Given the description of an element on the screen output the (x, y) to click on. 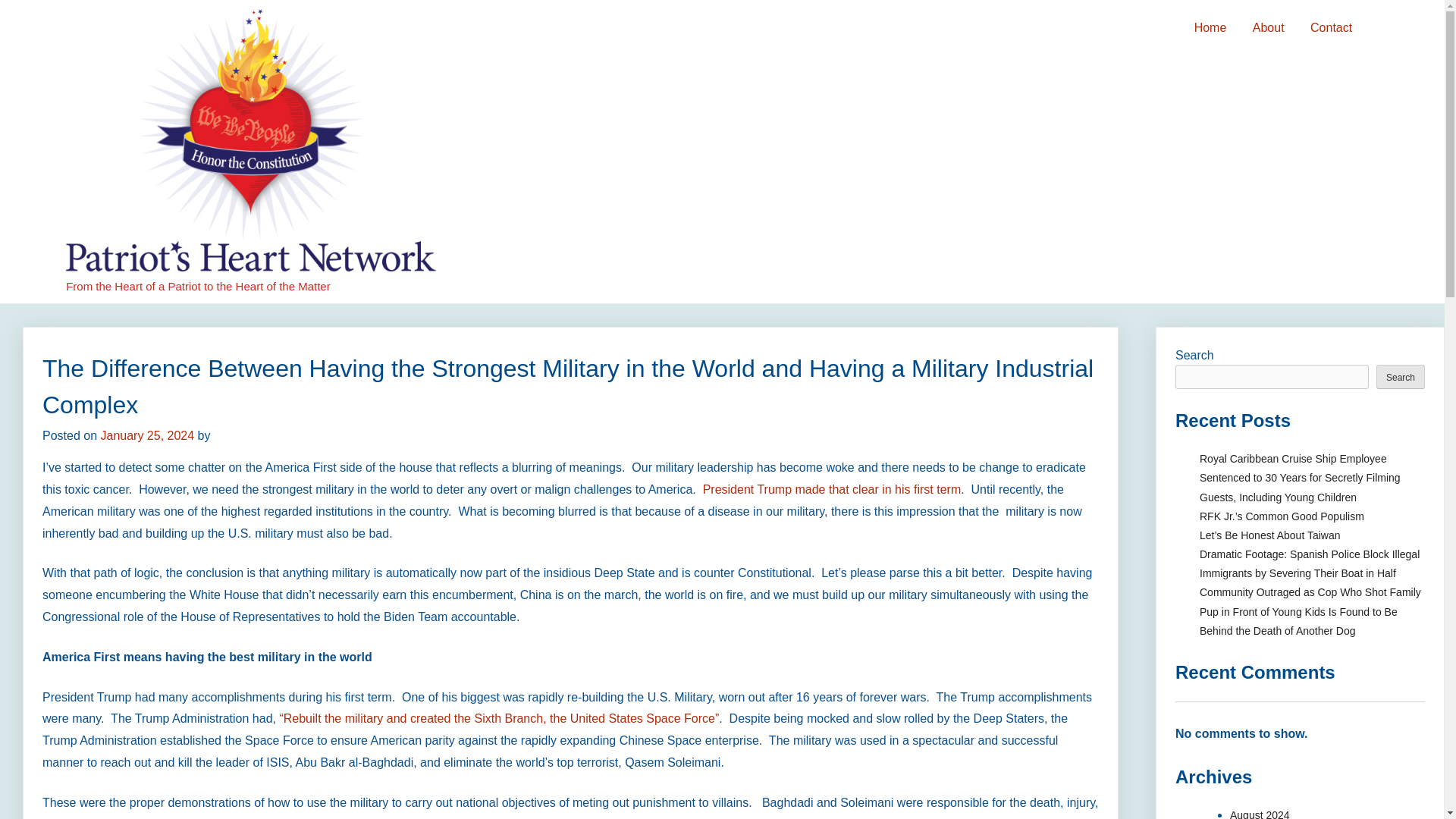
Home (1210, 28)
Search (1400, 376)
January 25, 2024 (146, 435)
August 2024 (1260, 814)
Contact (1330, 28)
President Trump made that clear in his first term (831, 489)
About (1268, 28)
